Given the description of an element on the screen output the (x, y) to click on. 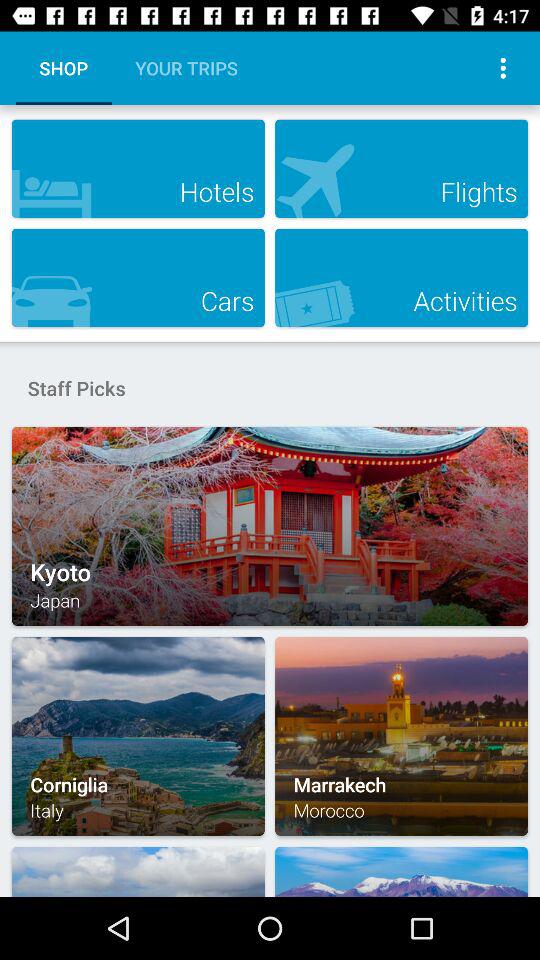
turn on the item to the right of the your trips item (503, 68)
